Given the description of an element on the screen output the (x, y) to click on. 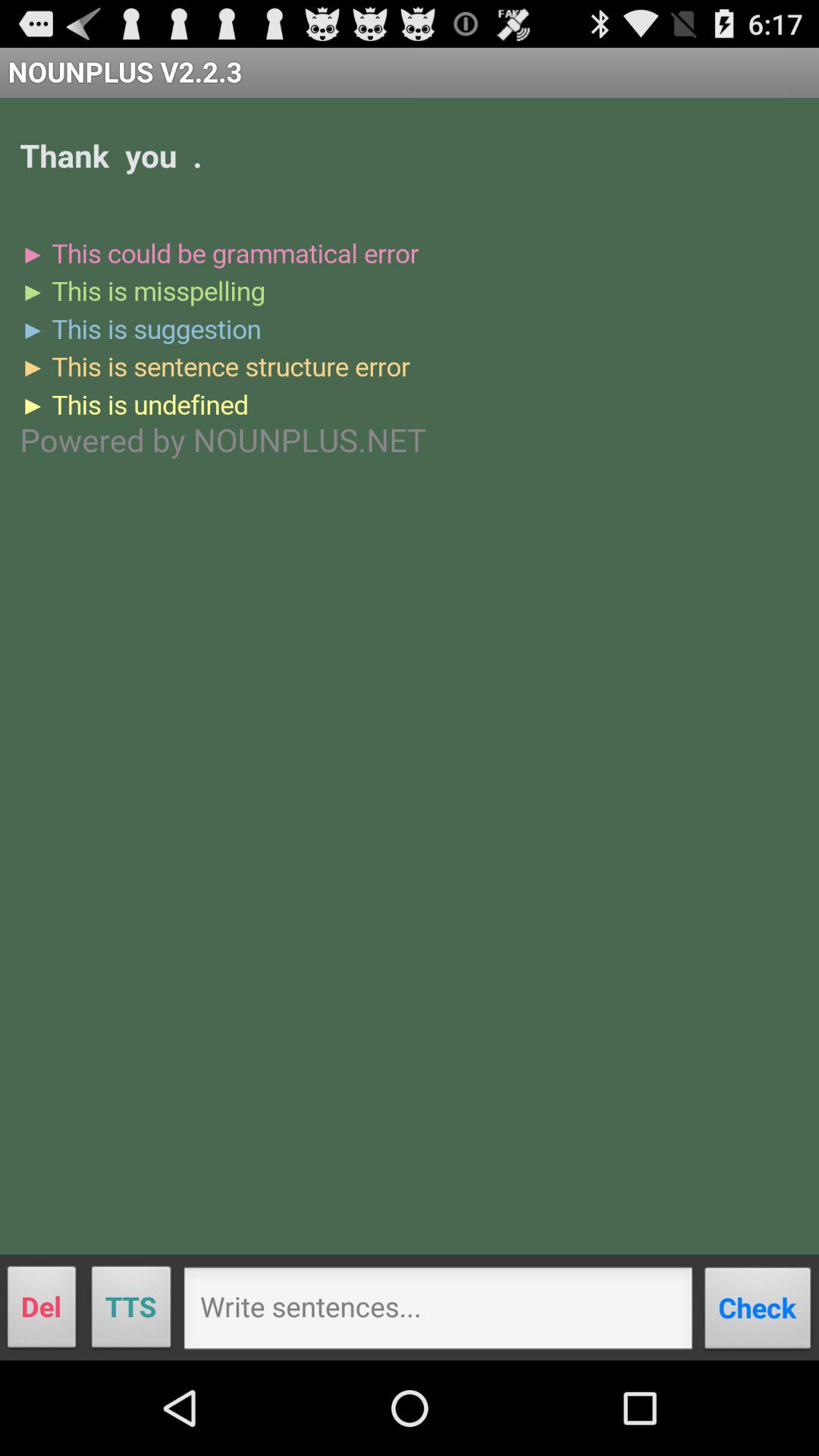
write sentences (438, 1312)
